Given the description of an element on the screen output the (x, y) to click on. 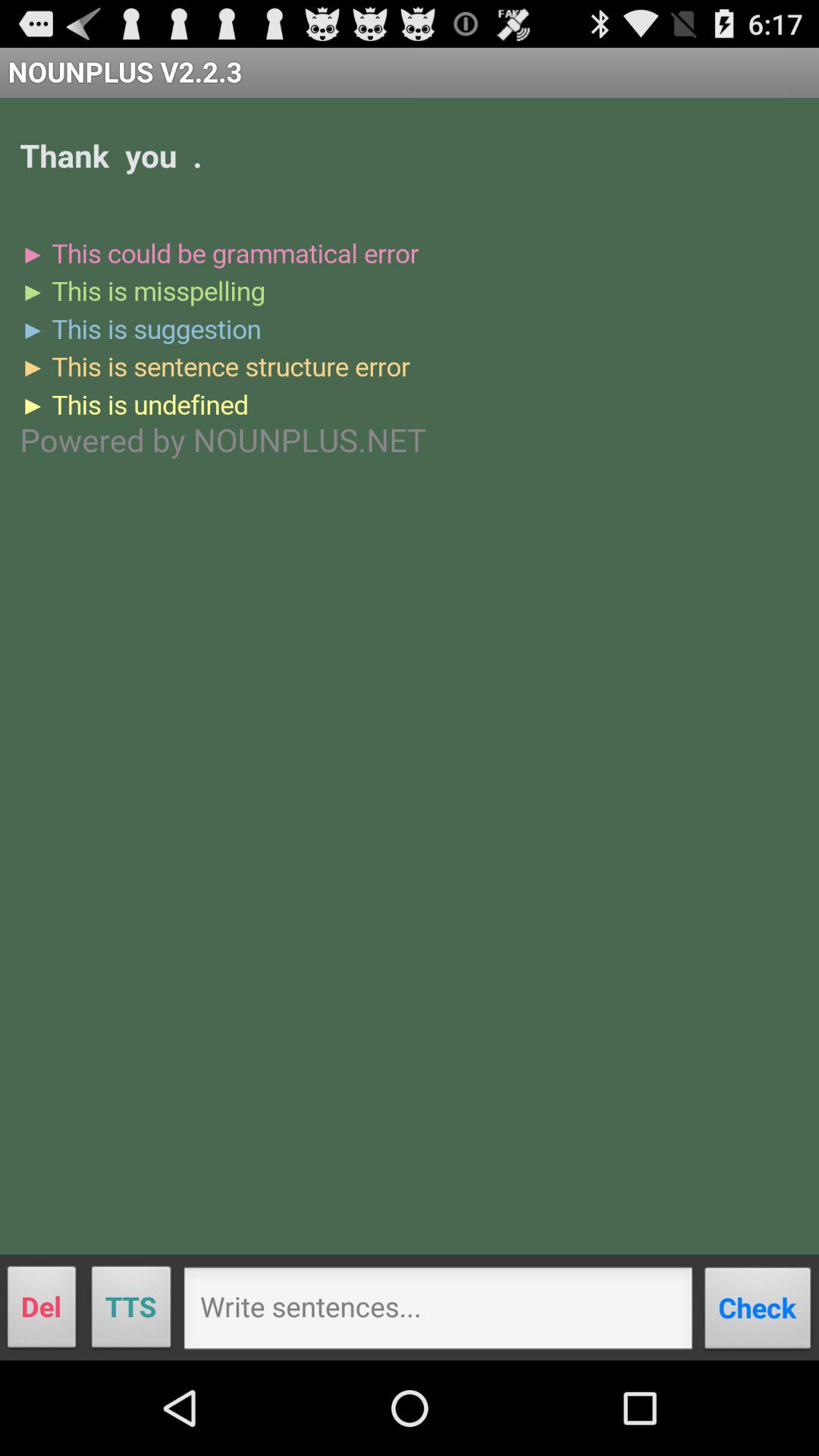
write sentences (438, 1312)
